Given the description of an element on the screen output the (x, y) to click on. 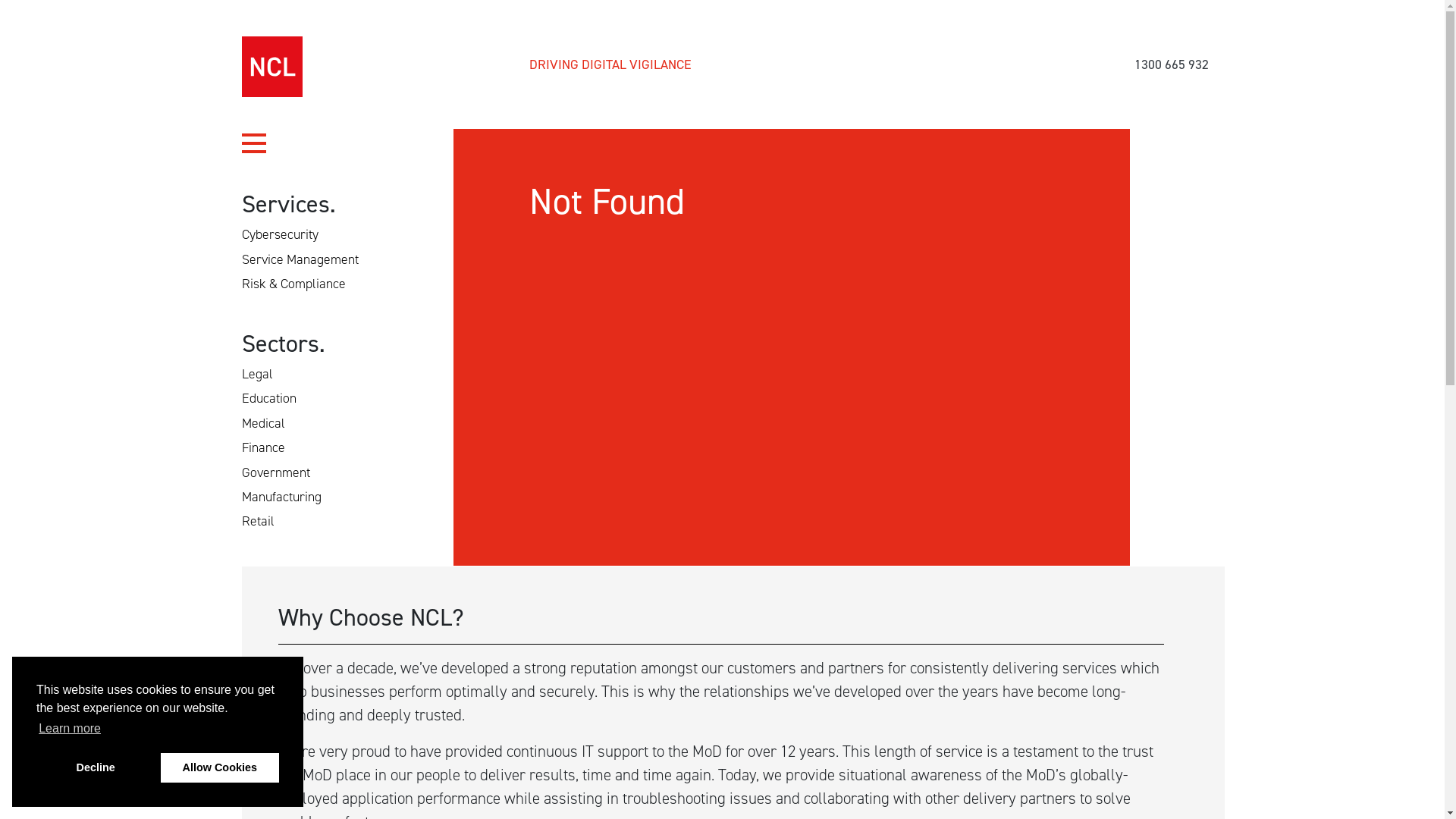
Retail Element type: text (263, 520)
Decline Element type: text (95, 767)
Finance Element type: text (268, 447)
Education Element type: text (274, 398)
Risk & Compliance Element type: text (299, 283)
Legal Element type: text (262, 373)
Manufacturing Element type: text (286, 496)
Cybersecurity Element type: text (285, 234)
Medical Element type: text (268, 423)
Allow Cookies Element type: text (219, 767)
1300 665 932 Element type: text (1171, 64)
Learn more Element type: text (69, 728)
Government Element type: text (281, 472)
Service Management Element type: text (305, 259)
